Given the description of an element on the screen output the (x, y) to click on. 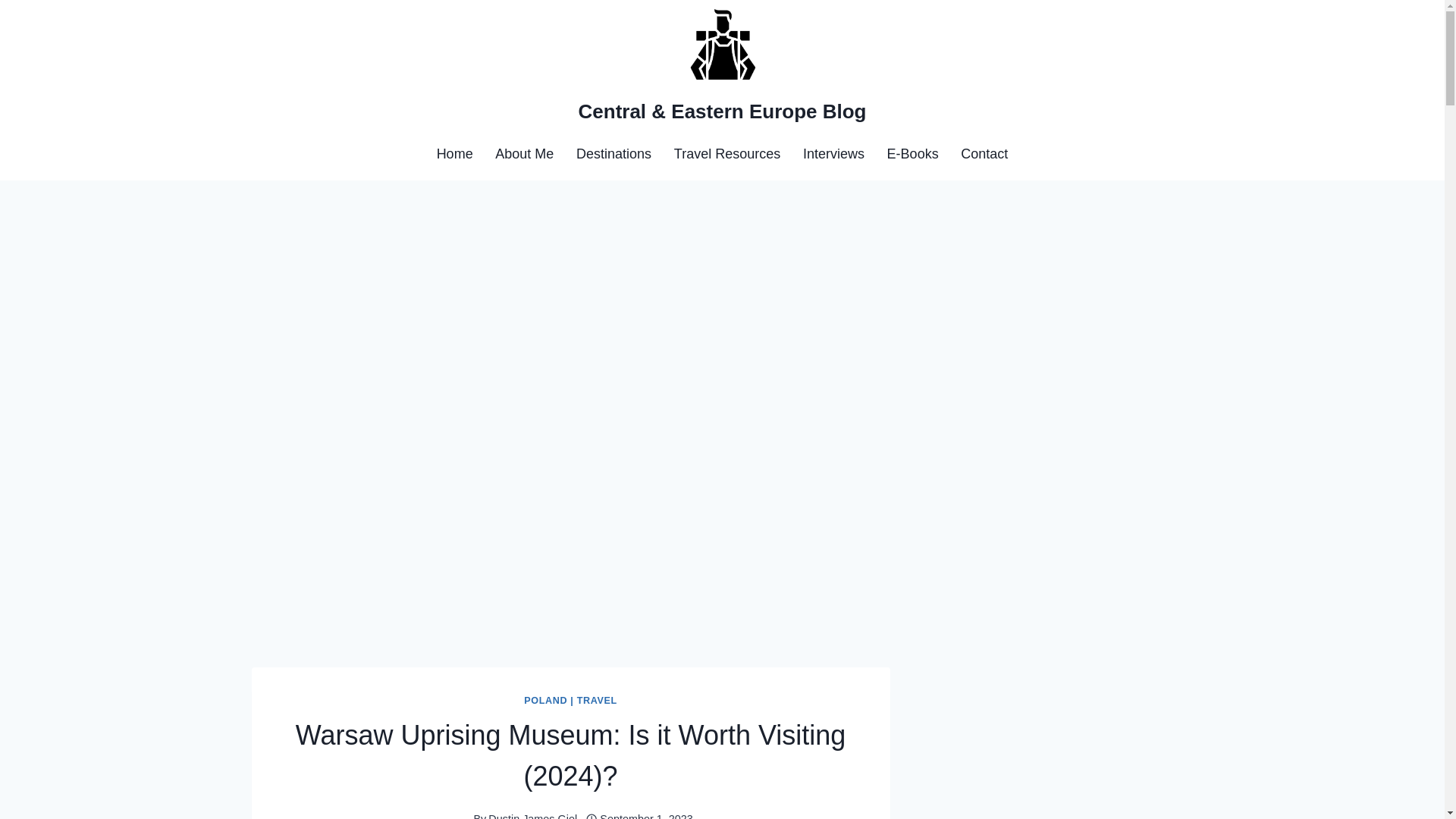
POLAND (545, 700)
Contact (984, 153)
Dustin James Giel (531, 816)
About Me (523, 153)
E-Books (913, 153)
Interviews (834, 153)
Destinations (613, 153)
Travel Resources (727, 153)
TRAVEL (596, 700)
Home (454, 153)
